Given the description of an element on the screen output the (x, y) to click on. 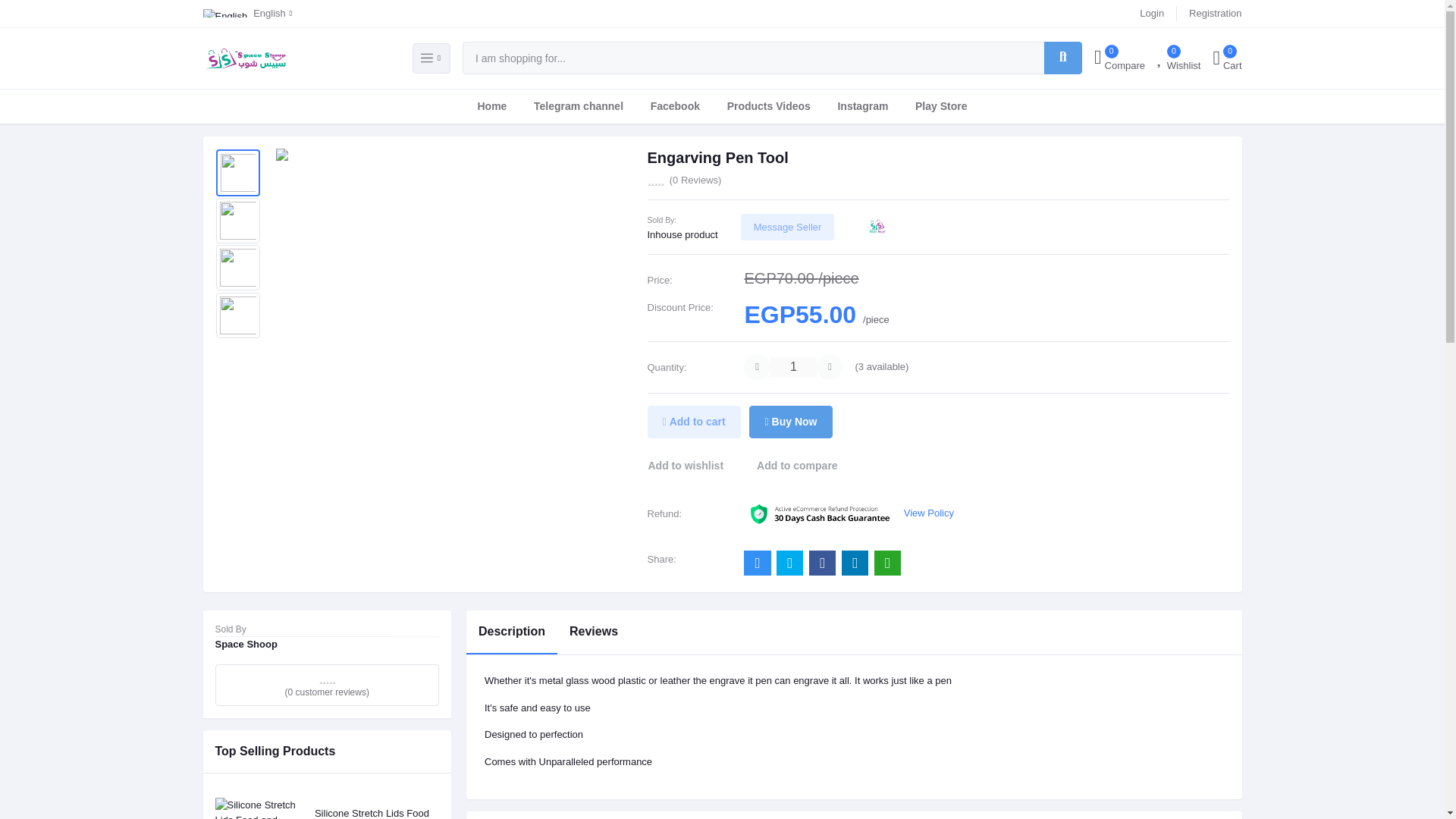
Facebook (675, 106)
Add to cart (694, 421)
Message Seller (787, 226)
Play Store (940, 106)
Home (1226, 57)
English (491, 106)
Add to compare (247, 13)
Registration (1178, 57)
Login (797, 466)
1 (1215, 13)
Instagram (1151, 13)
Telegram channel (793, 366)
